Given the description of an element on the screen output the (x, y) to click on. 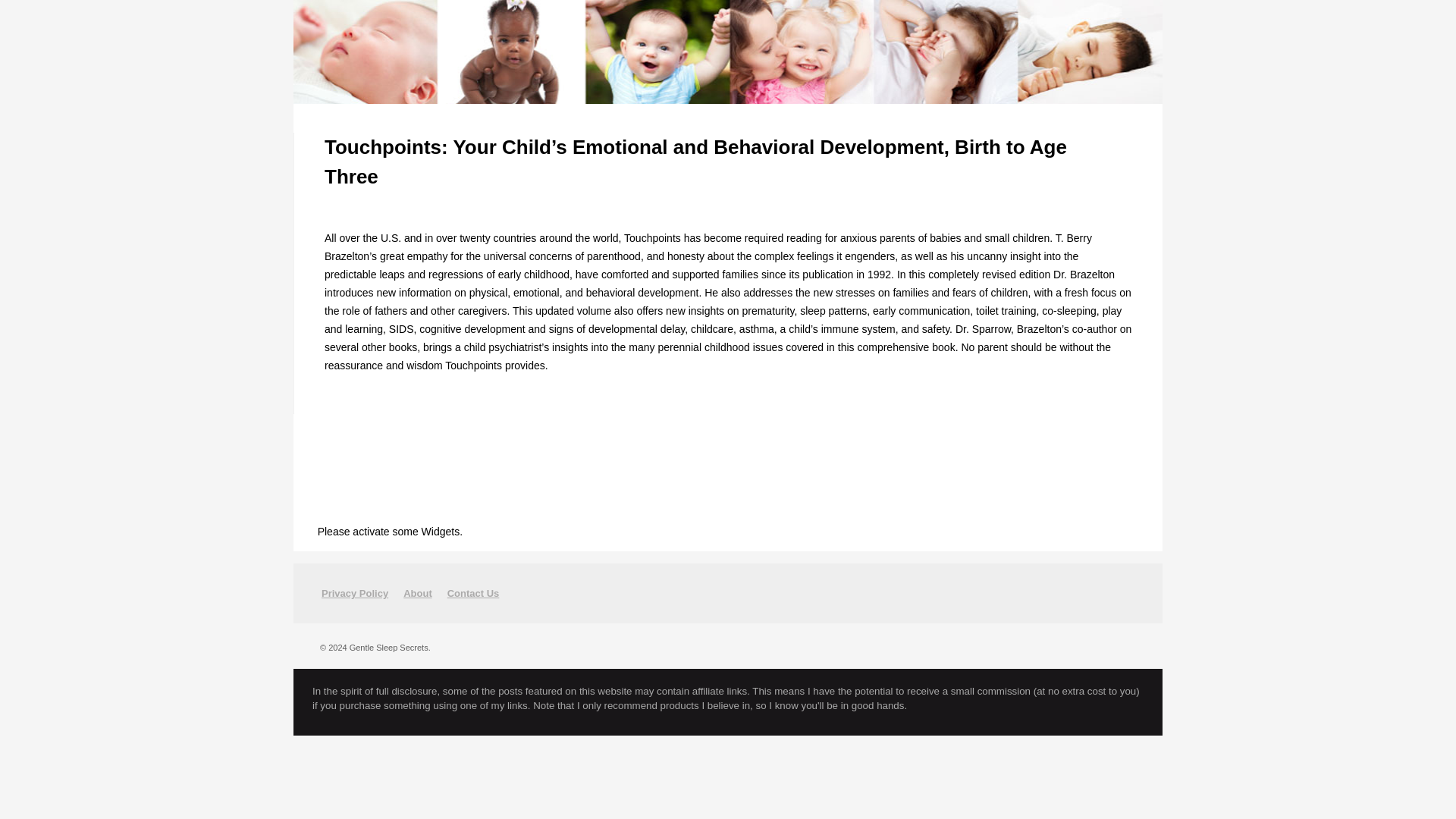
About (417, 593)
Contact Us (472, 593)
Privacy Policy (355, 593)
